Given the description of an element on the screen output the (x, y) to click on. 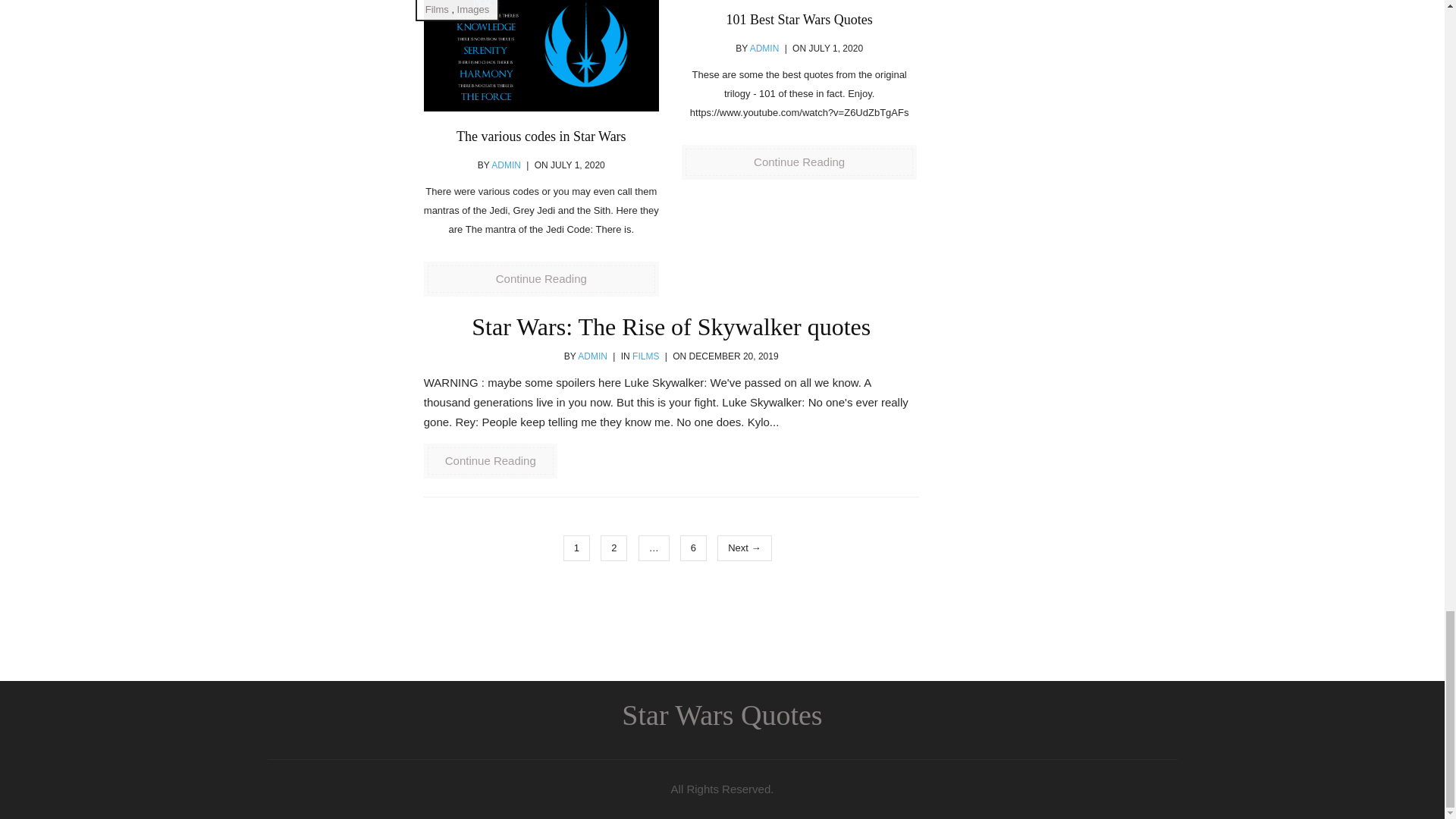
Films (436, 9)
Images (473, 9)
The various codes in Star Wars (541, 136)
